Given the description of an element on the screen output the (x, y) to click on. 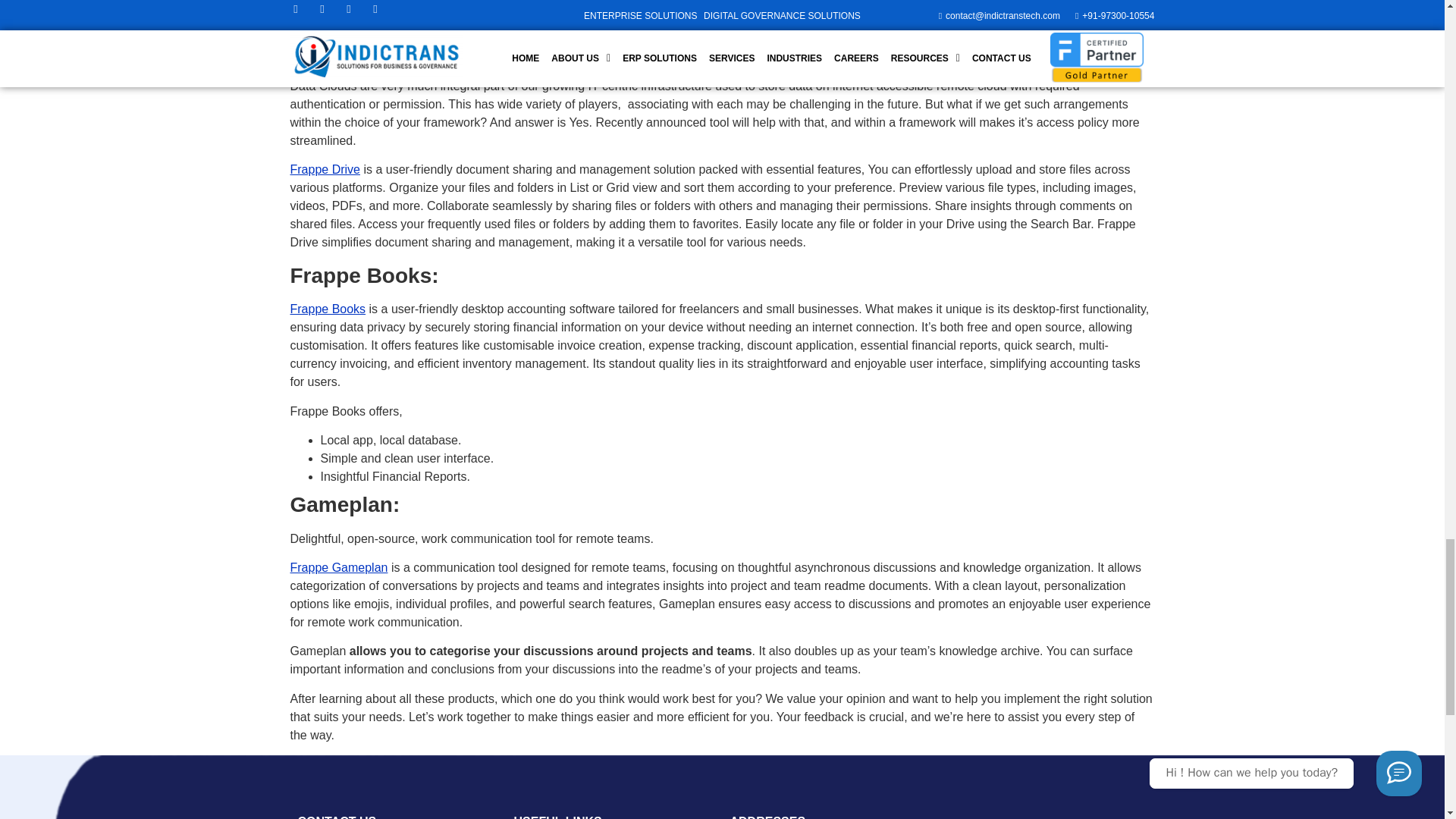
Frappe Gameplan (338, 567)
Frappe Books (327, 308)
Frappe Drive (324, 169)
